Given the description of an element on the screen output the (x, y) to click on. 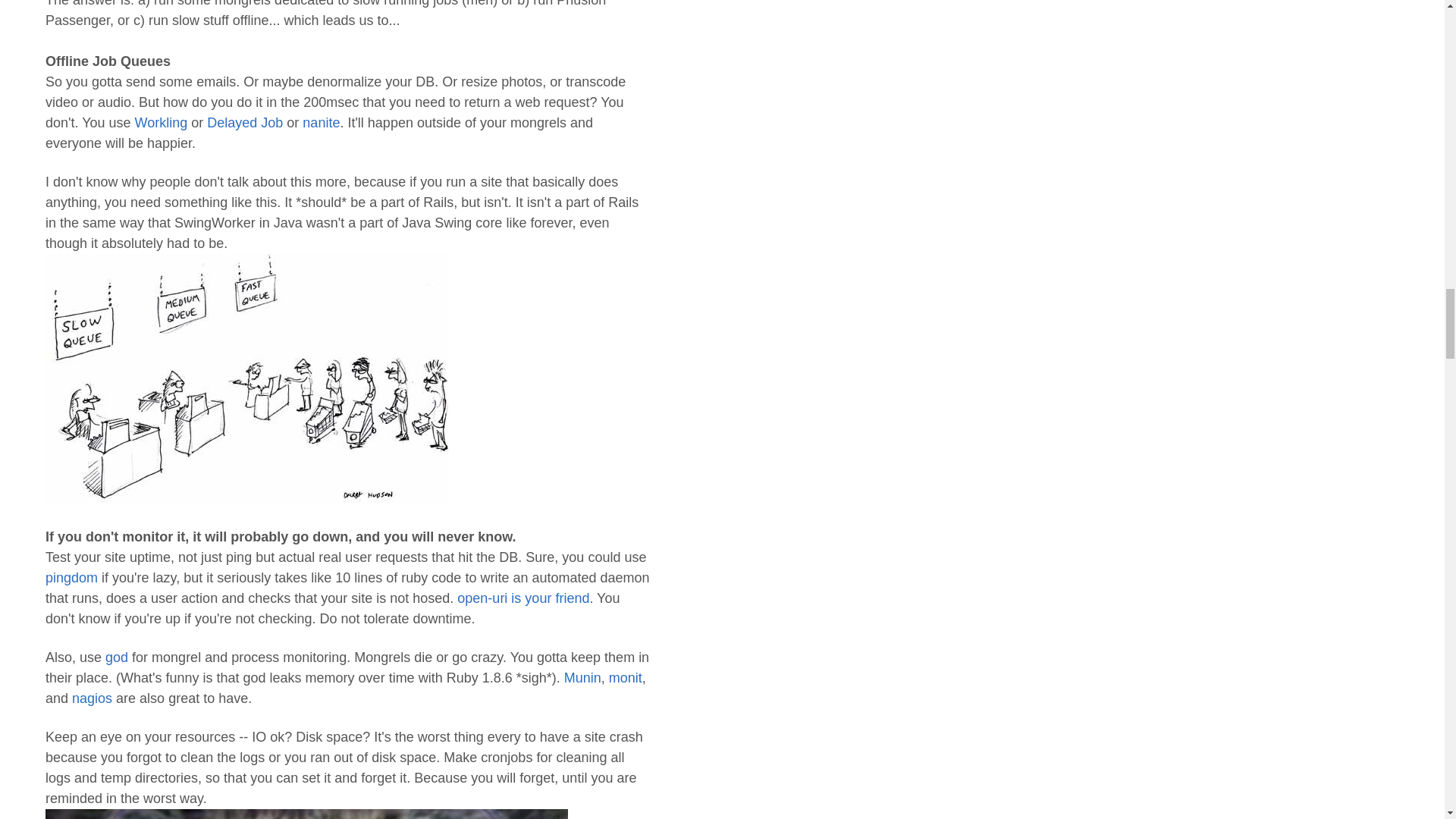
nanite (320, 122)
Workling (161, 122)
Delayed Job (244, 122)
god (116, 657)
open-uri is your friend. (524, 598)
pingdom (71, 577)
